Given the description of an element on the screen output the (x, y) to click on. 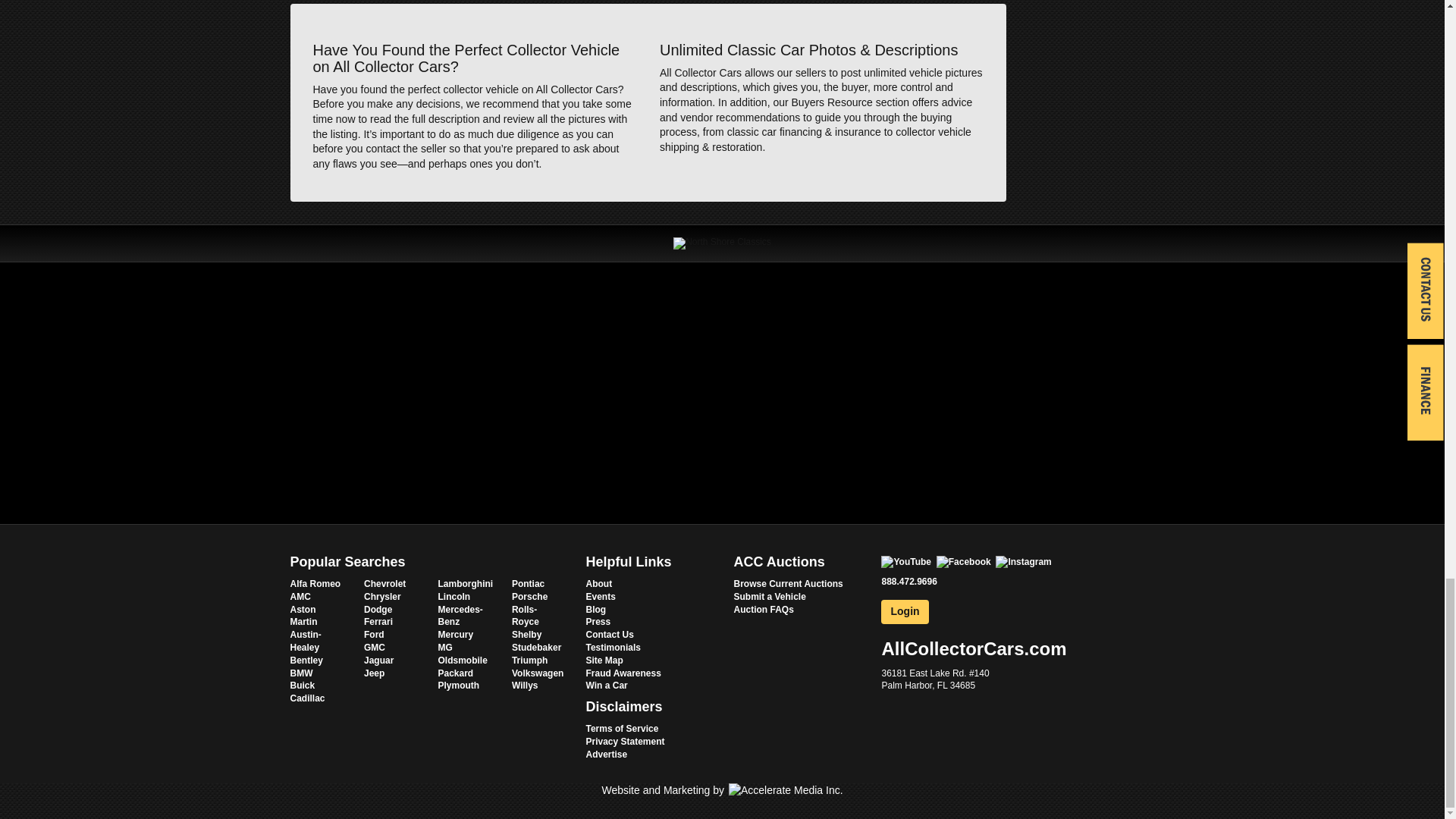
Instagram (1023, 561)
Facebook (963, 561)
YouTube (905, 561)
